Given the description of an element on the screen output the (x, y) to click on. 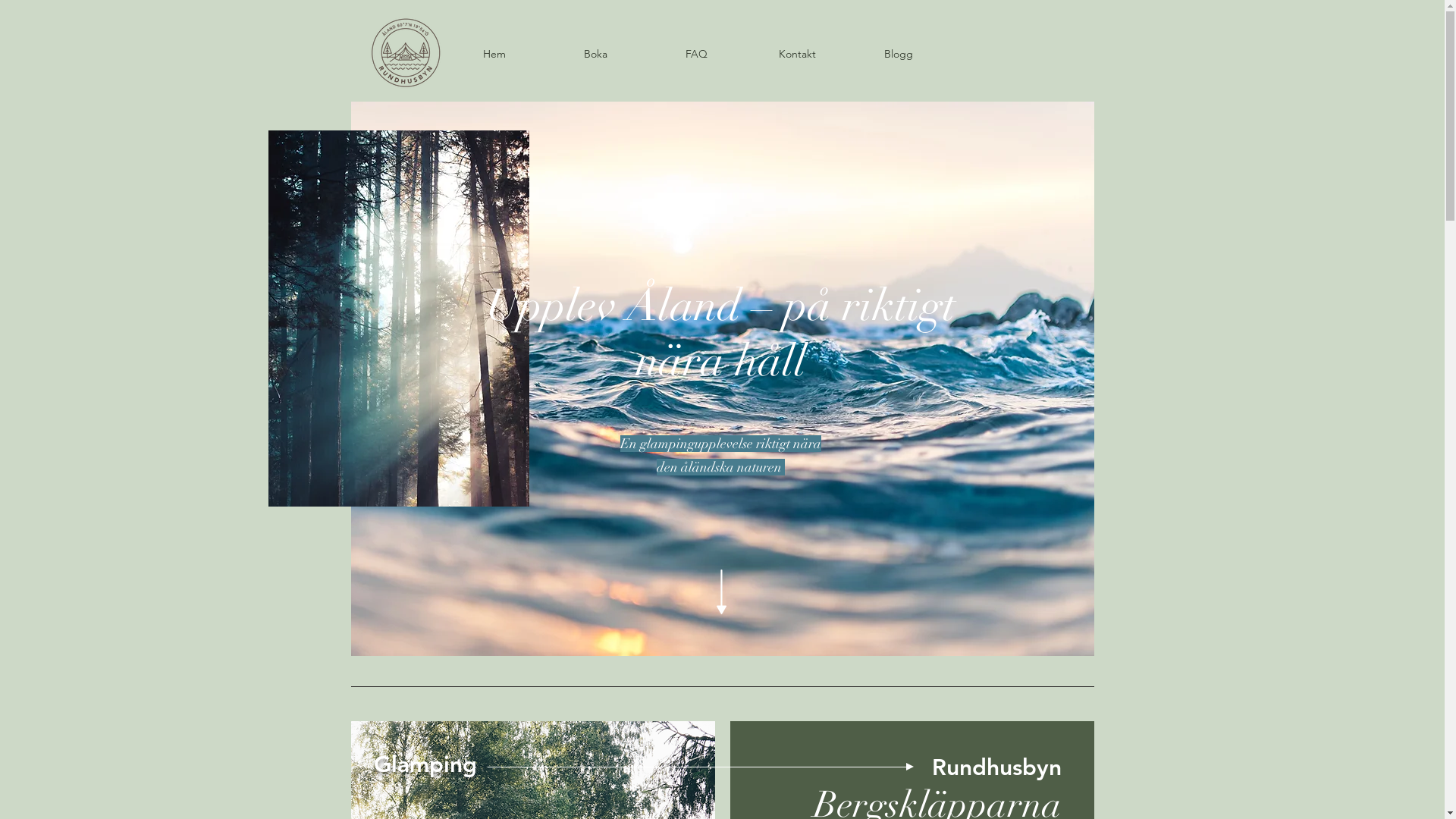
Boka Element type: text (594, 53)
FAQ Element type: text (696, 53)
Rundhusbyn Logo-04.png Element type: hover (408, 48)
Hem Element type: text (493, 53)
Blogg Element type: text (897, 53)
Kontakt Element type: text (796, 53)
